Given the description of an element on the screen output the (x, y) to click on. 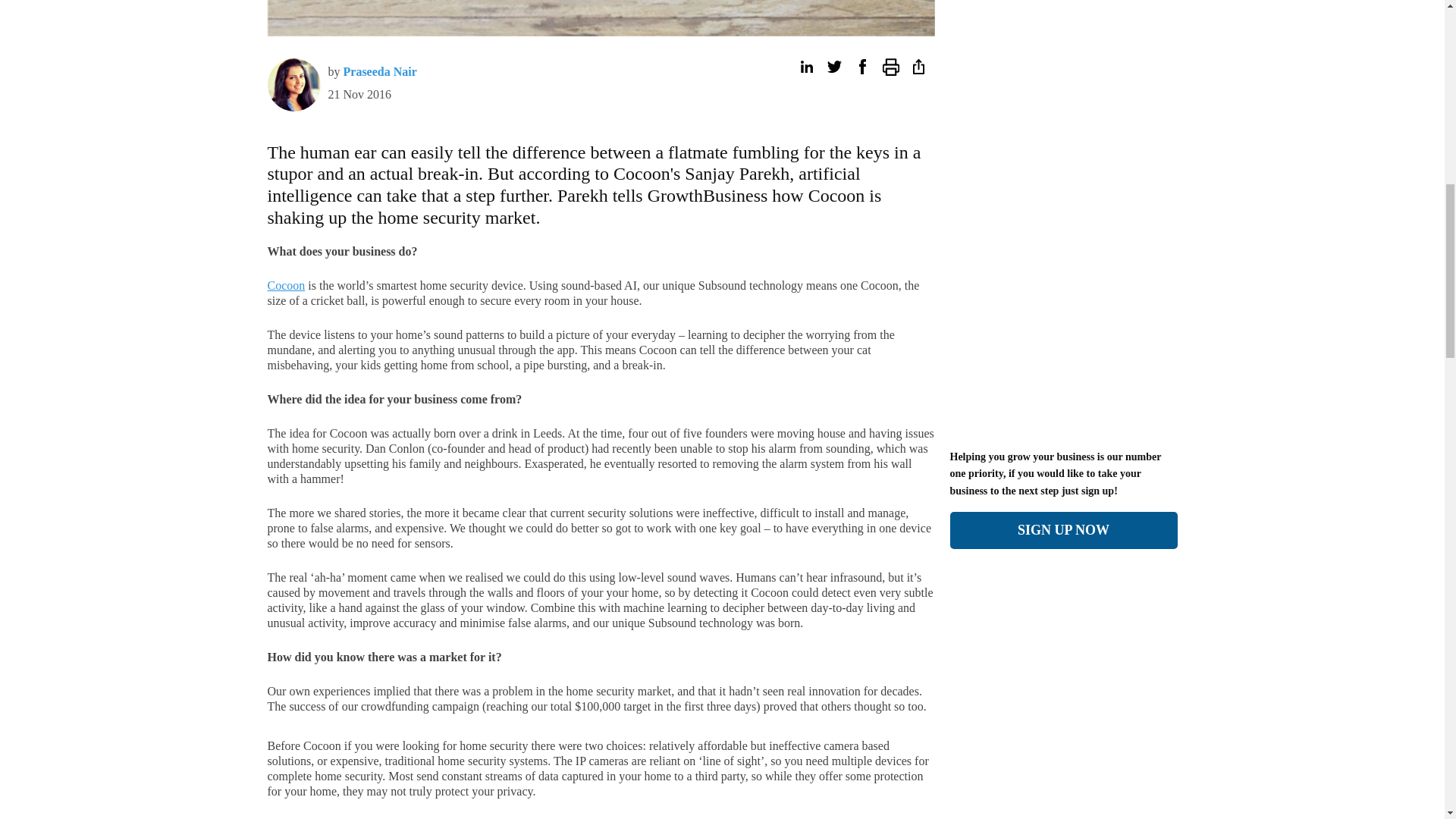
Share on LinkedIn (805, 67)
3rd party ad content (1062, 728)
Share on Facebook (861, 67)
3rd party ad content (195, 4)
3rd party ad content (1062, 339)
3rd party ad content (1062, 4)
Print this article (890, 67)
Tweet this article (835, 67)
3rd party ad content (1249, 4)
